Given the description of an element on the screen output the (x, y) to click on. 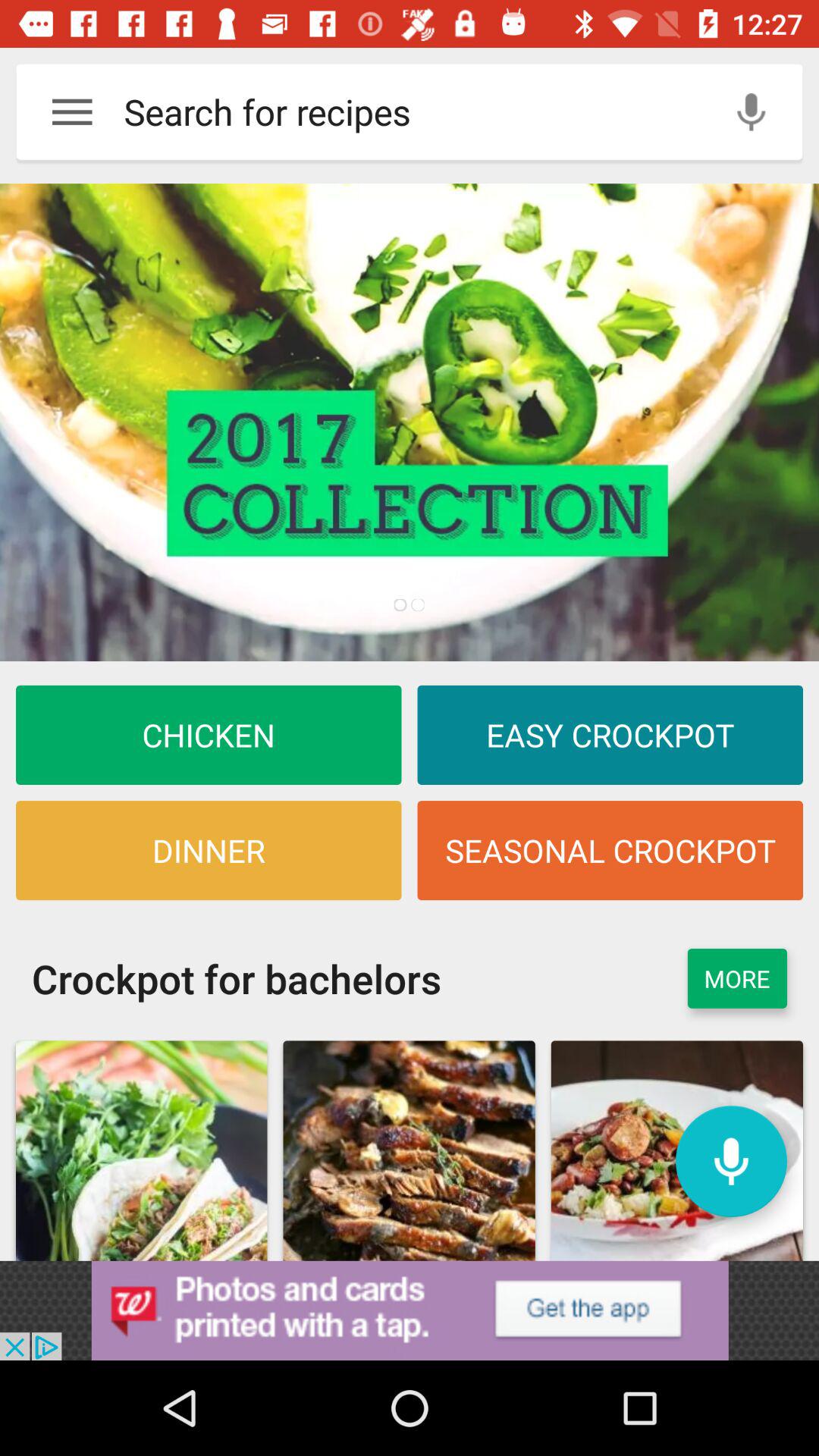
click discriiption (409, 422)
